Given the description of an element on the screen output the (x, y) to click on. 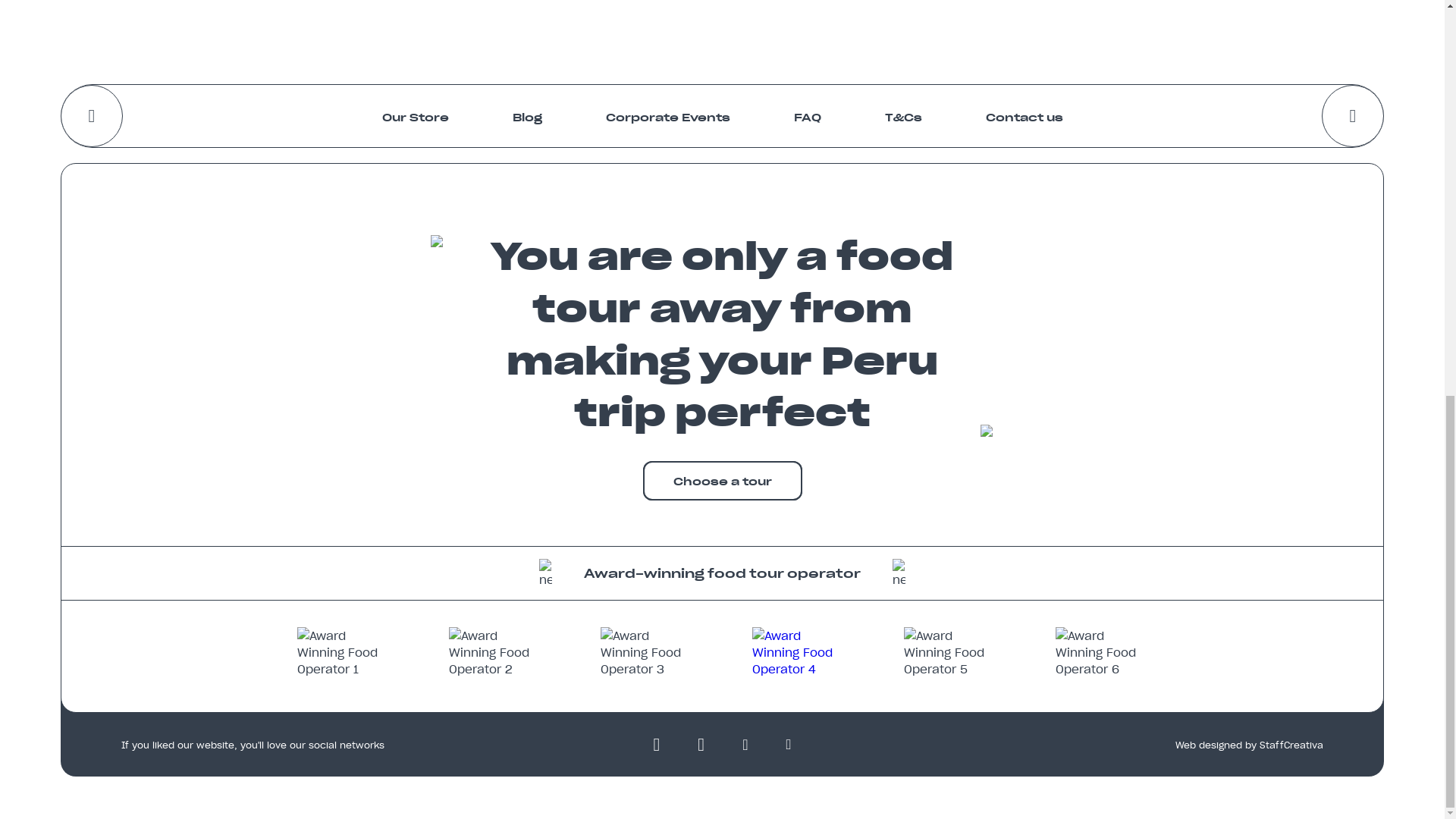
FAQ (807, 116)
Blog (526, 116)
Corporate Events (667, 116)
Choose a tour (722, 480)
Our Store (414, 116)
Contact us (1023, 116)
